Given the description of an element on the screen output the (x, y) to click on. 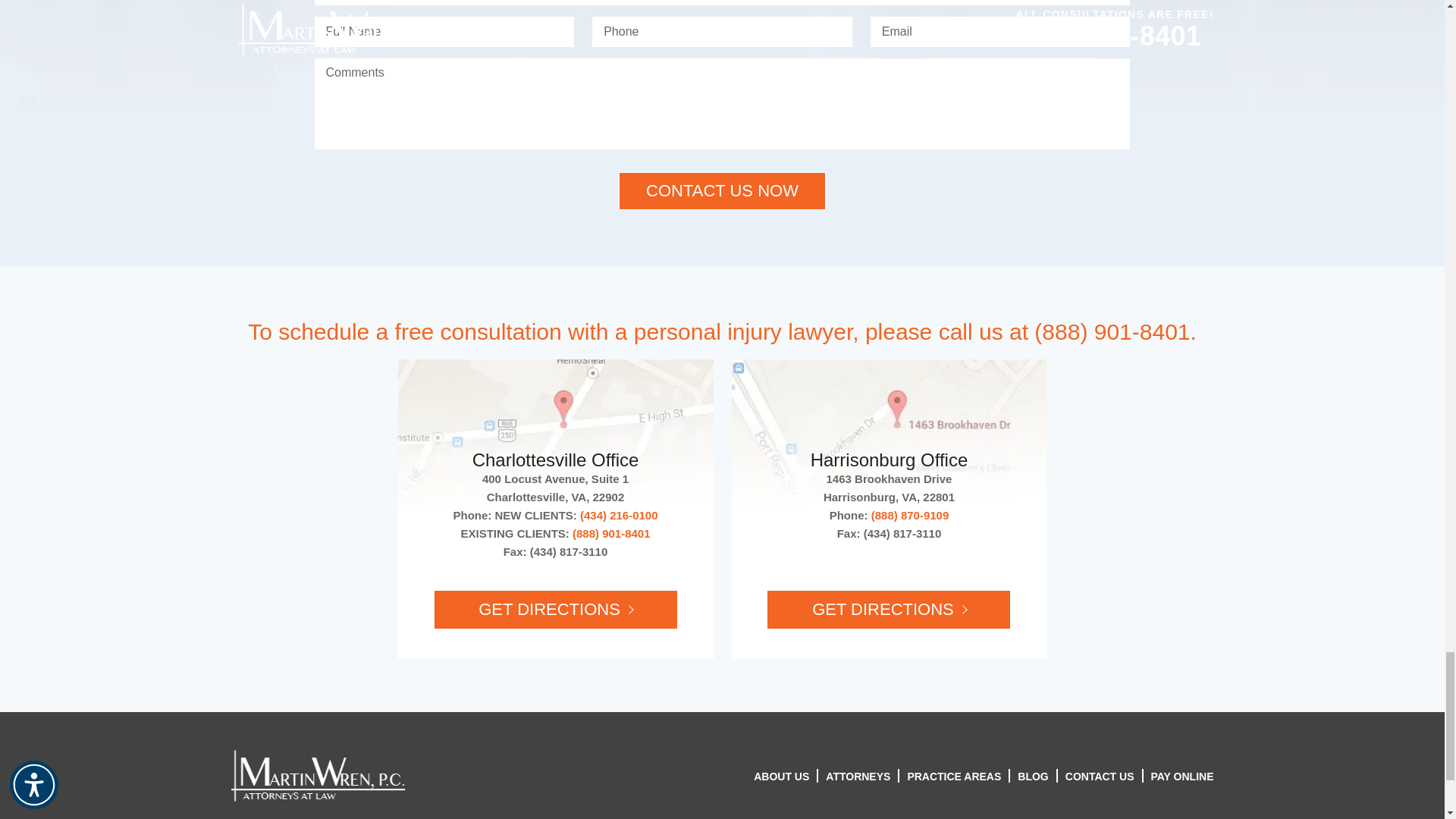
Contact Us Now (721, 190)
